Given the description of an element on the screen output the (x, y) to click on. 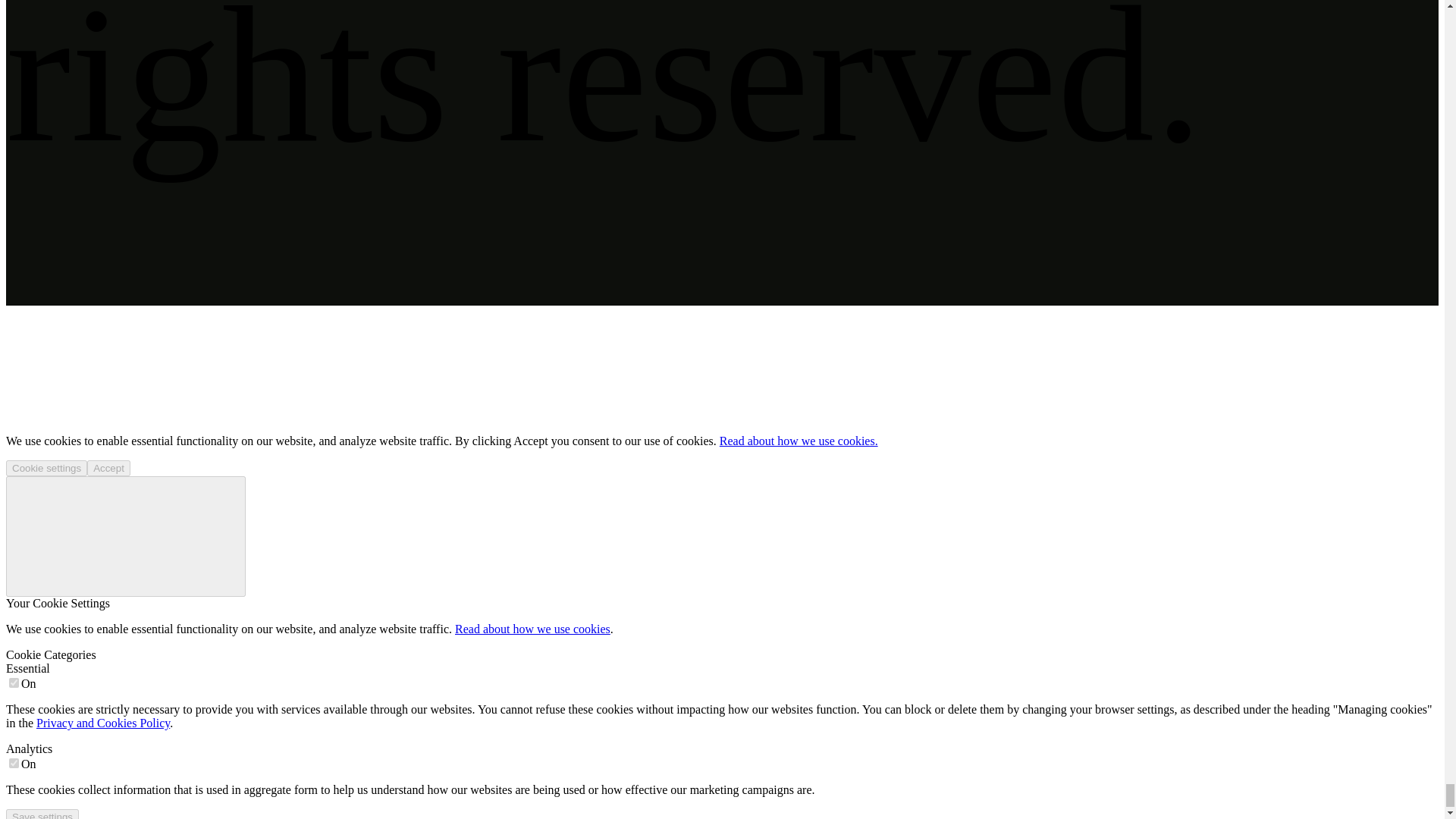
on (13, 682)
on (13, 763)
Read about how we use cookies (532, 628)
Cookie settings (46, 467)
Privacy and Cookies Policy (103, 722)
Read about how we use cookies. (798, 440)
Accept (109, 467)
